Given the description of an element on the screen output the (x, y) to click on. 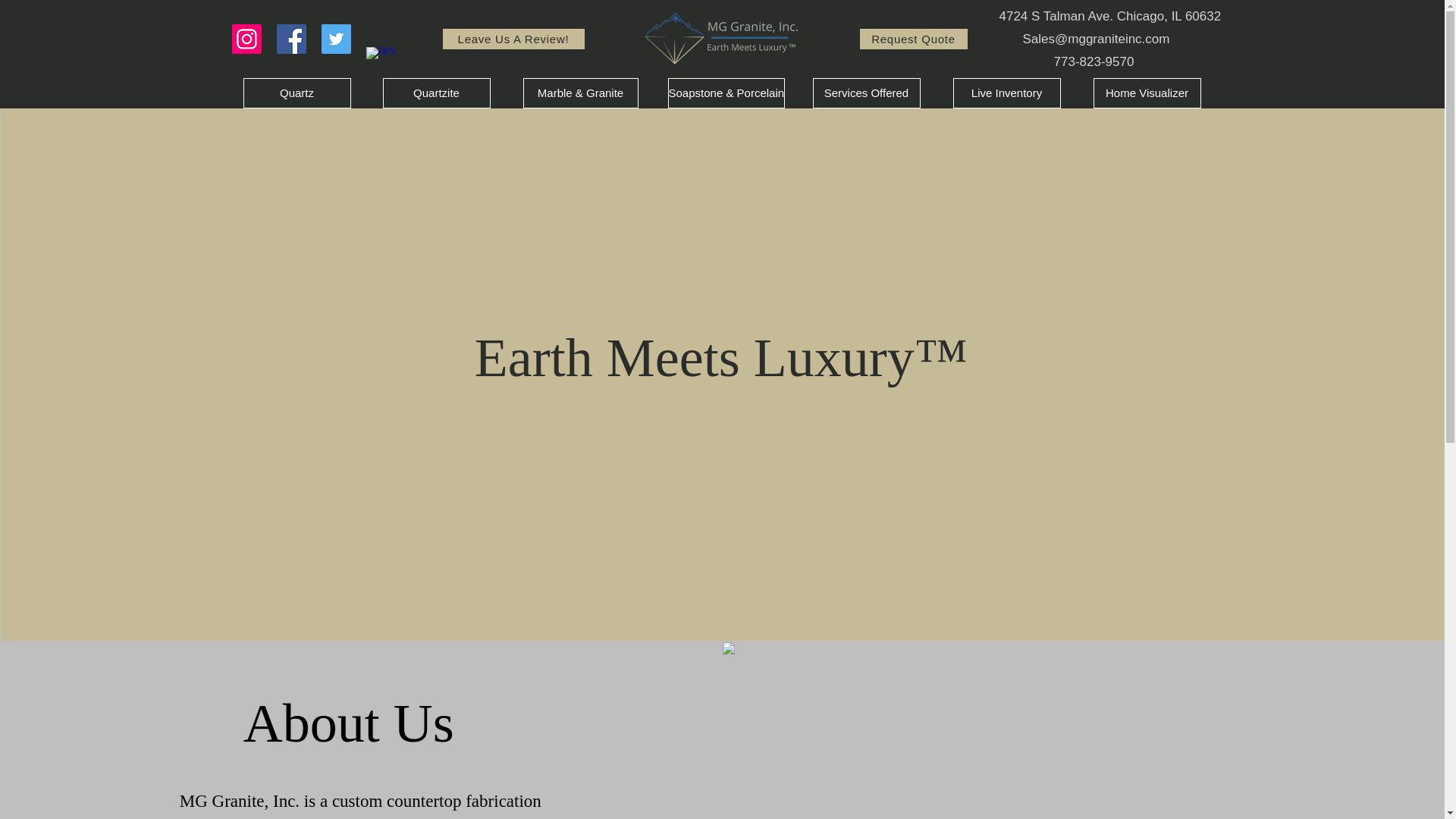
Request Quote (914, 38)
Quartz (296, 92)
Quartzite (435, 92)
4724 S Talman Ave. Chicago, IL 60632 (1109, 16)
Home Visualizer (1147, 92)
Leave Us A Review! (513, 38)
Services Offered (866, 92)
Live Inventory (1005, 92)
773-823-9570 (1094, 61)
